Given the description of an element on the screen output the (x, y) to click on. 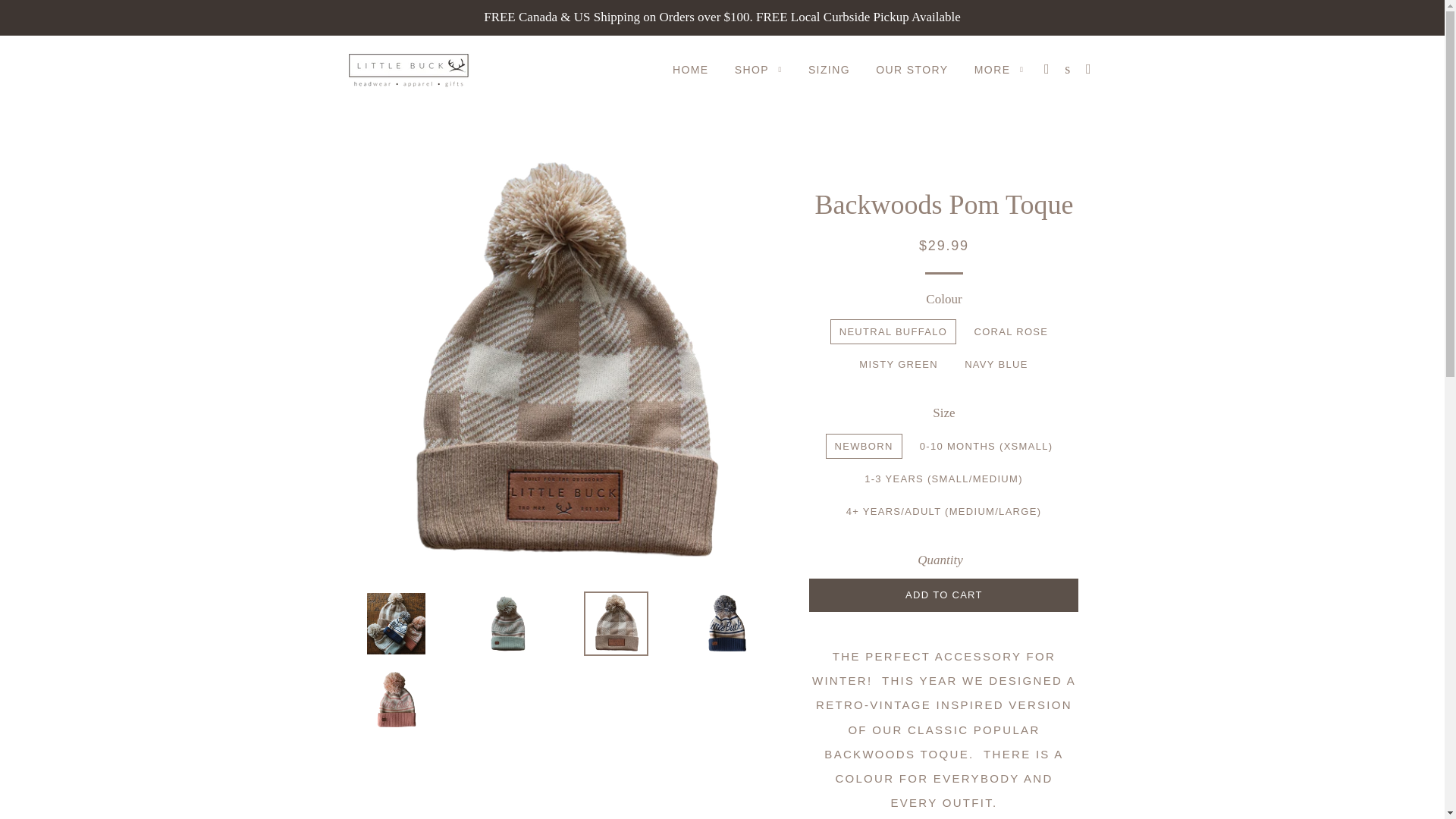
HOME (690, 70)
SIZING (828, 70)
SHOP (758, 70)
